Given the description of an element on the screen output the (x, y) to click on. 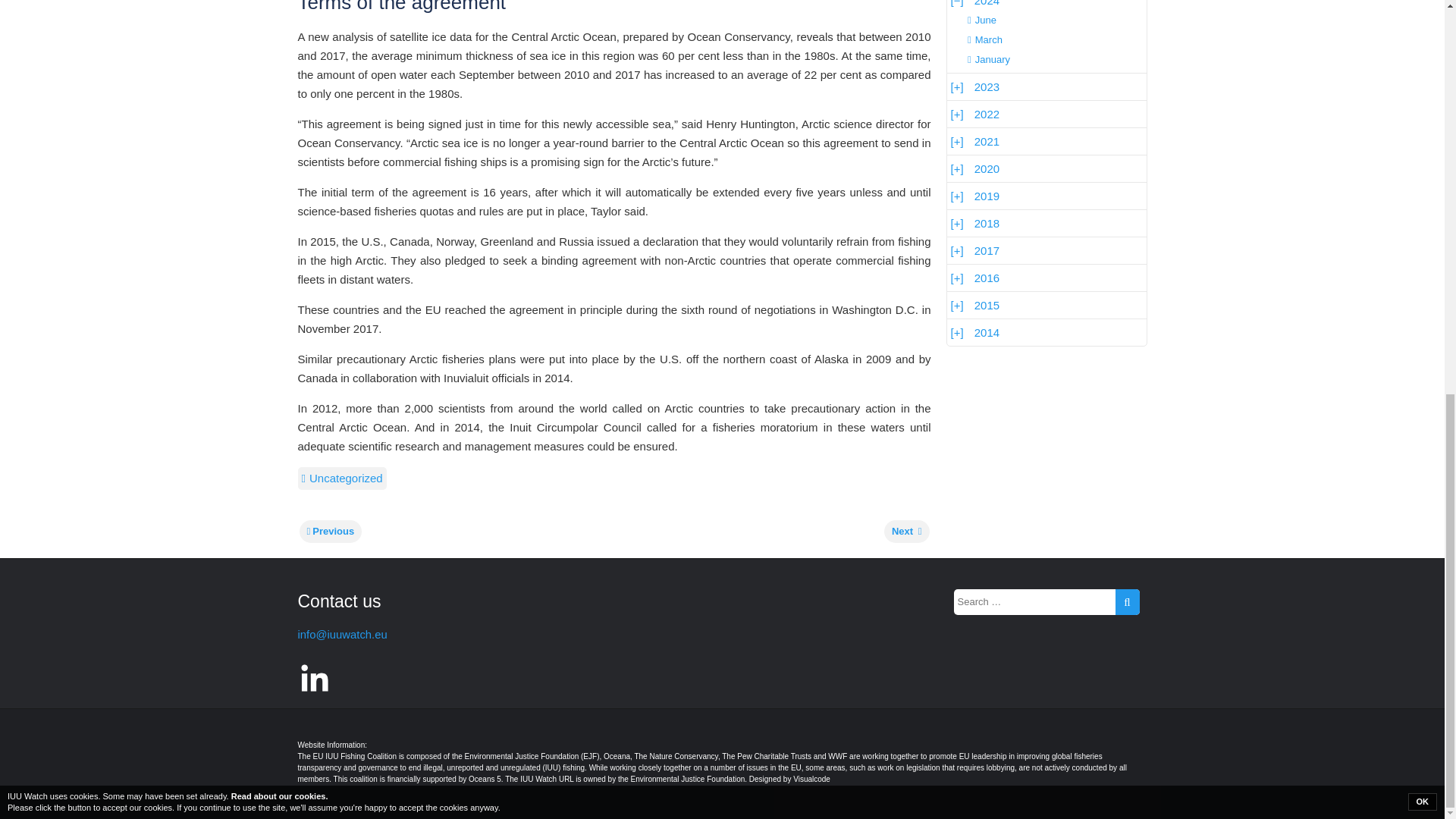
Next (906, 531)
Uncategorized (341, 477)
Search for: (1046, 601)
Previous (329, 531)
